Given the description of an element on the screen output the (x, y) to click on. 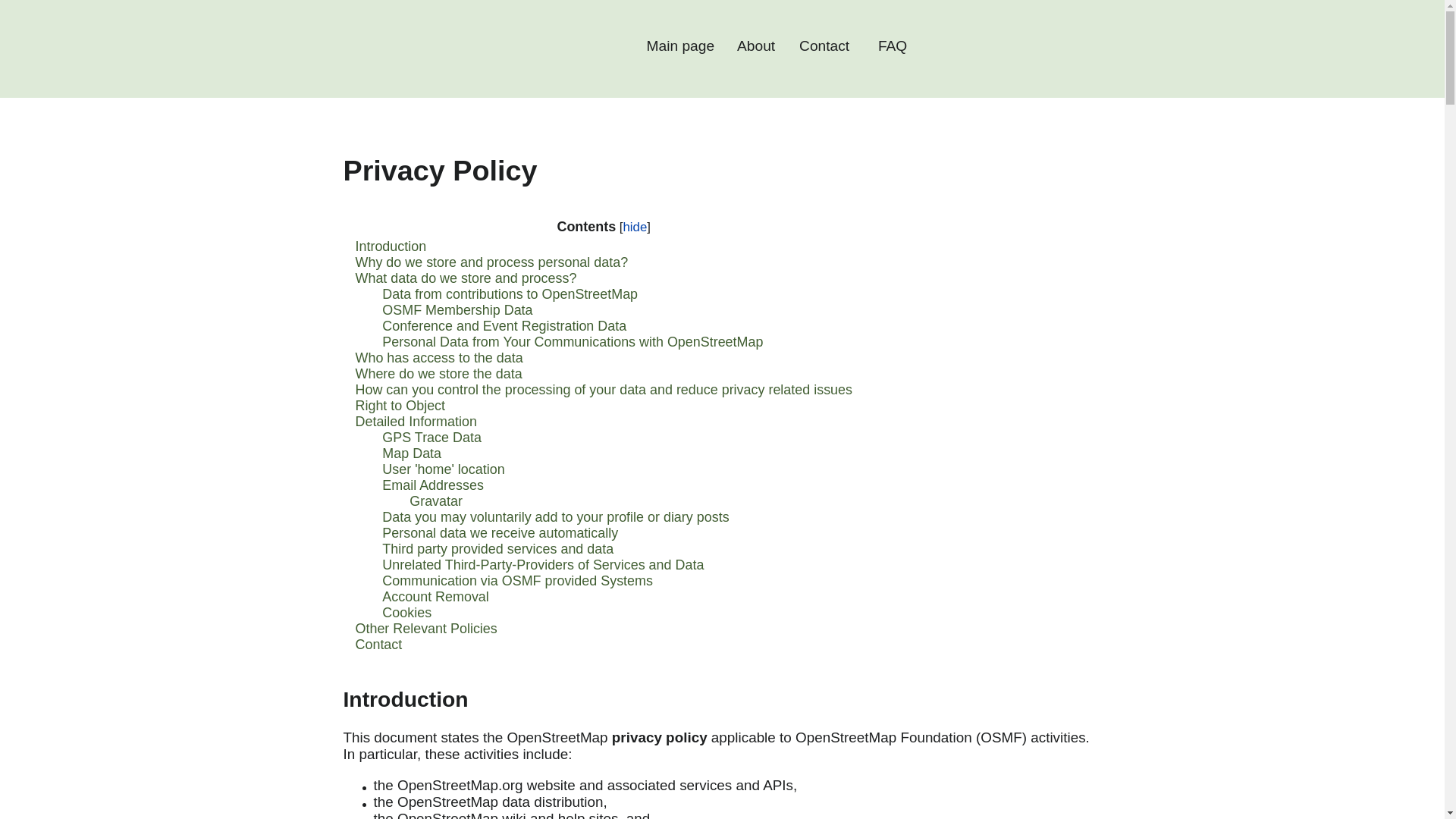
OSMF Membership Data (456, 309)
Gravatar (436, 500)
Visit the main page (458, 48)
Cookies (405, 612)
Personal data we receive automatically (499, 532)
Detailed Information (415, 421)
Contact (378, 644)
Why do we store and process personal data? (491, 262)
Third party provided services and data (496, 548)
Data you may voluntarily add to your profile or diary posts (555, 516)
Conference and Event Registration Data (503, 325)
Account Removal (434, 596)
GPS Trace Data (431, 437)
Who has access to the data (438, 357)
